Given the description of an element on the screen output the (x, y) to click on. 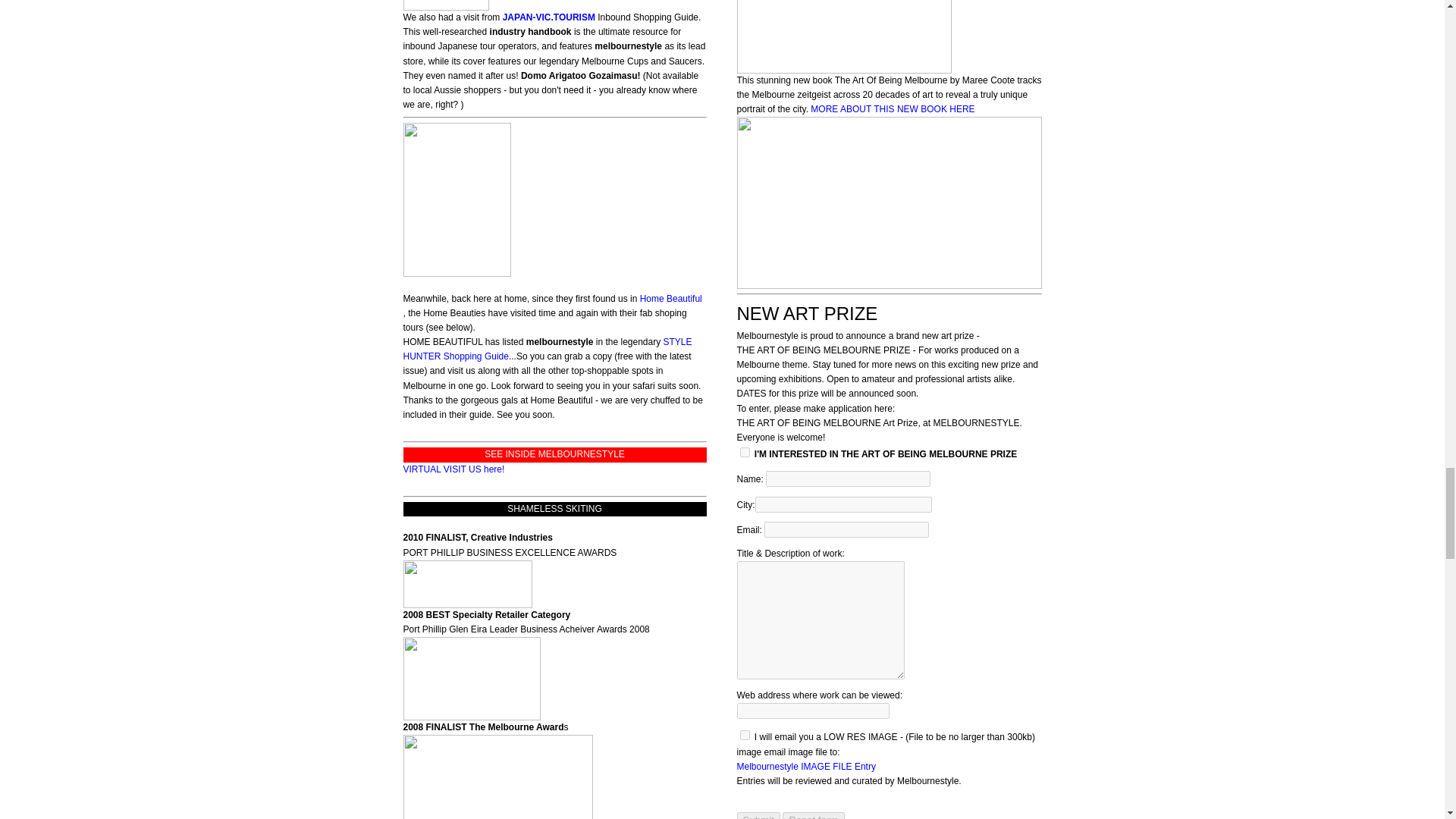
Add me to your mailing list (744, 735)
Add me to your mailing list (744, 452)
Submit (758, 815)
Reset form (813, 815)
